Given the description of an element on the screen output the (x, y) to click on. 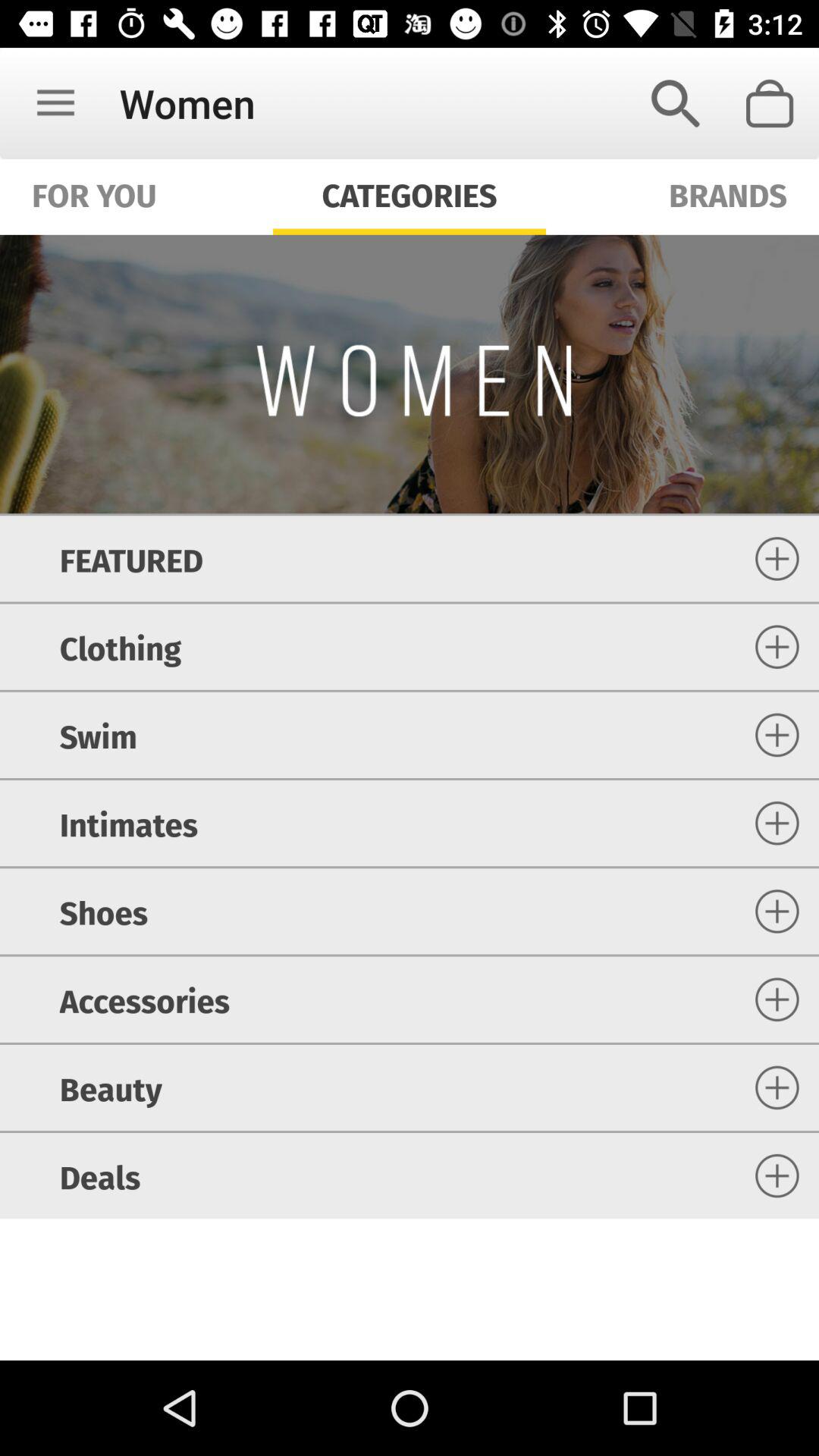
launch for you item (93, 193)
